Given the description of an element on the screen output the (x, y) to click on. 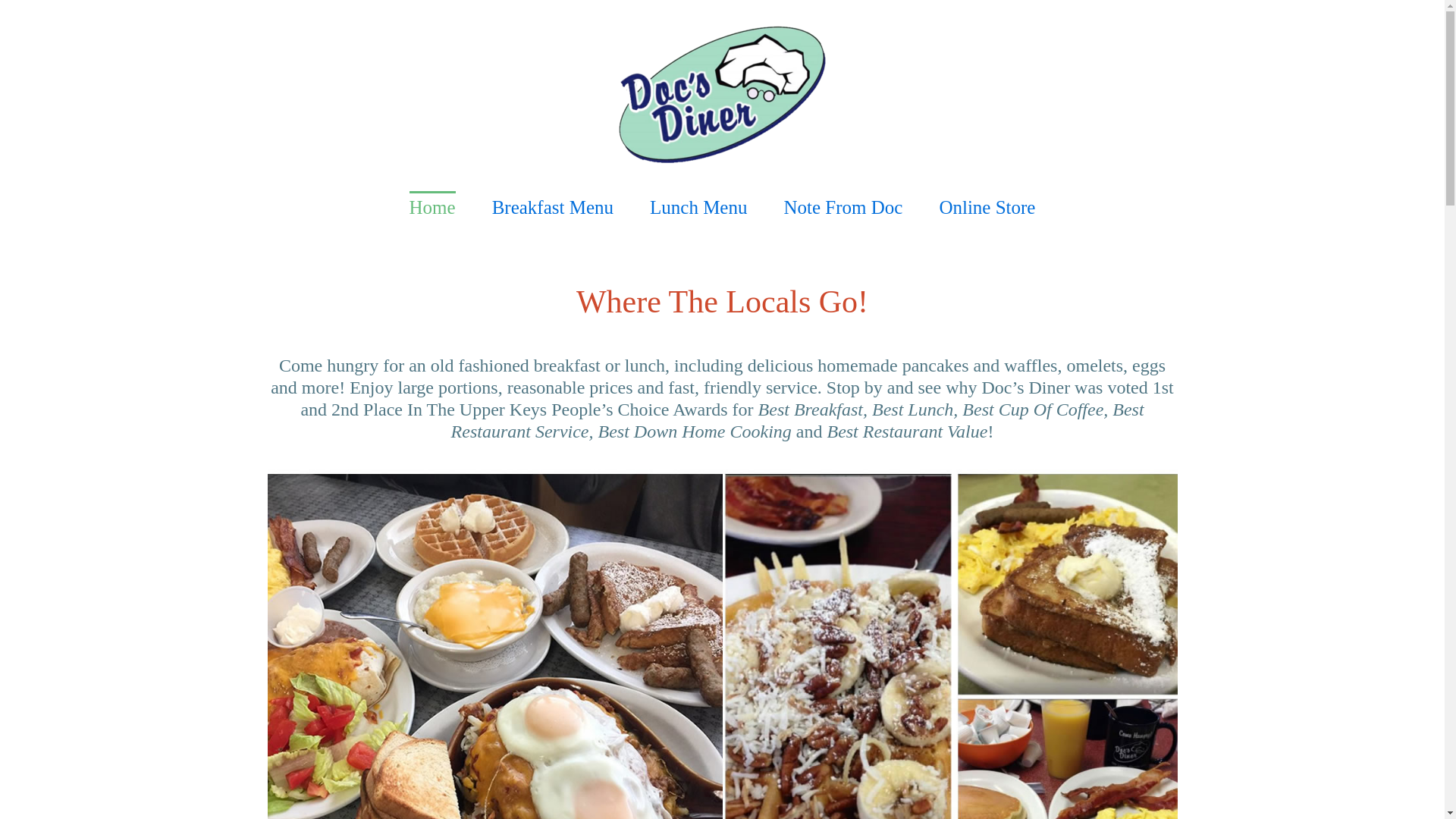
Online Store (987, 205)
Lunch Menu (697, 205)
Breakfast Menu (19, 95)
Note From Doc (552, 205)
Home (842, 205)
Accessibility Tools (432, 205)
Accessibility Tools (19, 95)
